Given the description of an element on the screen output the (x, y) to click on. 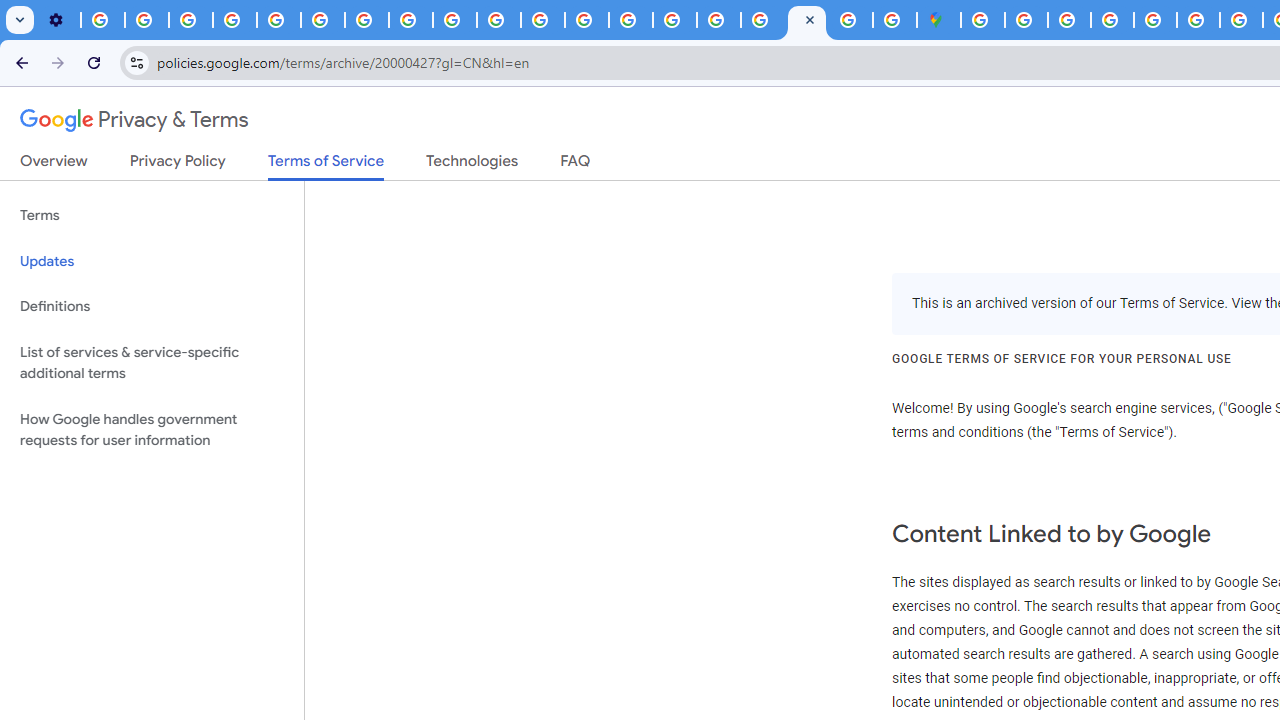
Sign in - Google Accounts (1026, 20)
Privacy Help Center - Policies Help (1241, 20)
